Given the description of an element on the screen output the (x, y) to click on. 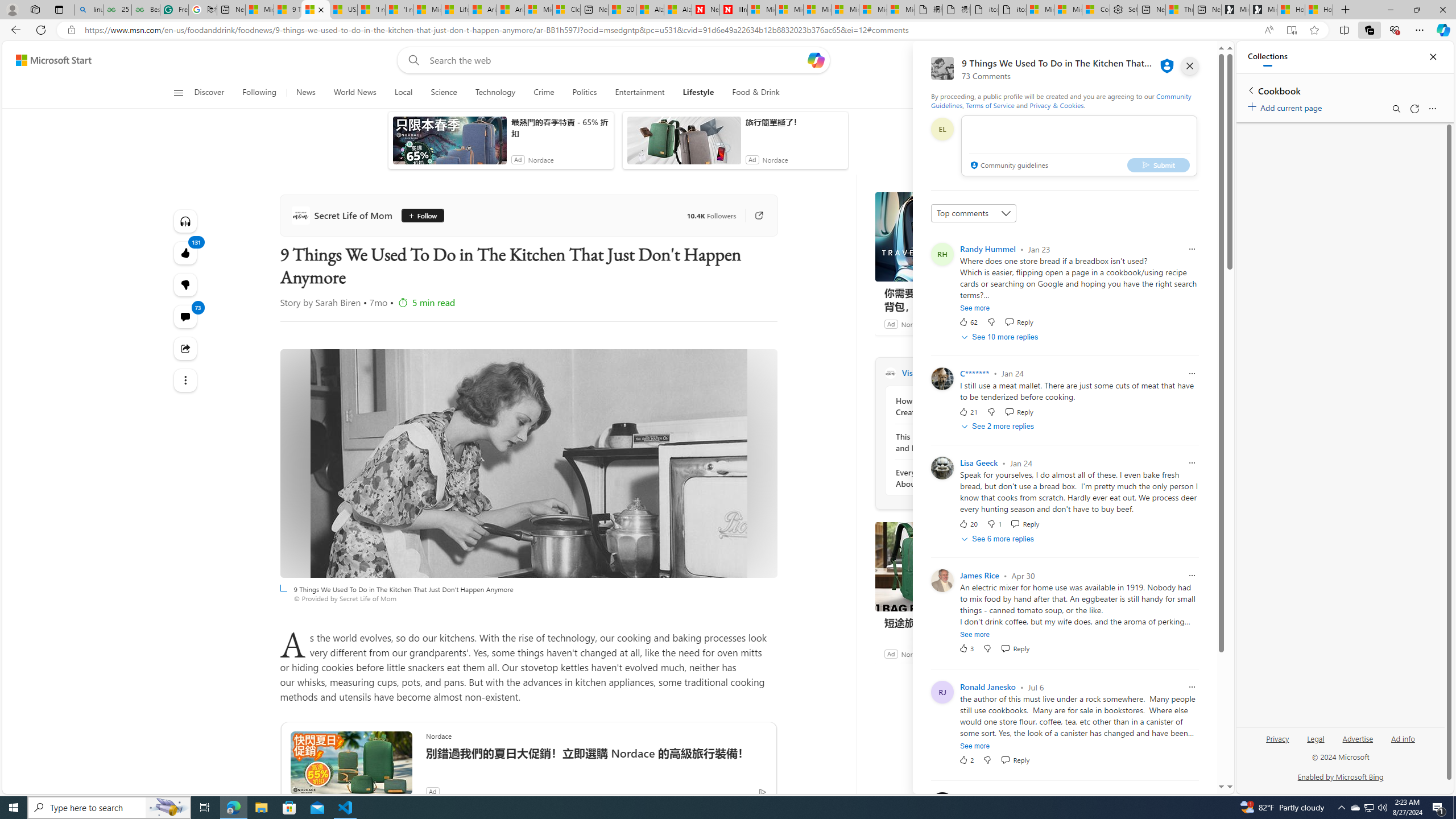
Secret Life of Mom (344, 215)
Community Guidelines (1060, 100)
20 Like (967, 523)
View comments 73 Comment (184, 316)
